Given the description of an element on the screen output the (x, y) to click on. 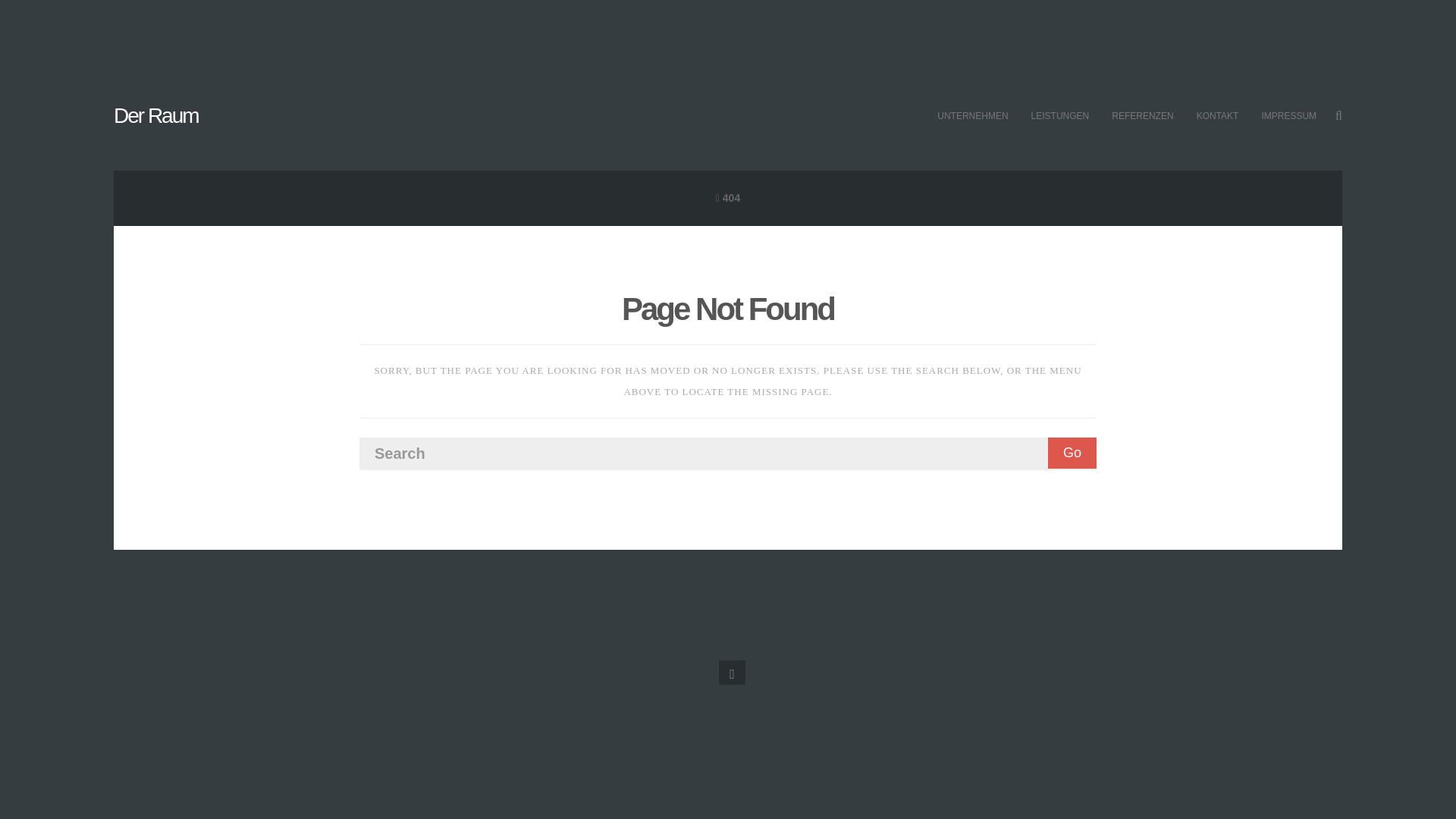
Search (727, 453)
IMPRESSUM (1288, 116)
LEISTUNGEN (1060, 116)
Der Raum (155, 115)
UNTERNEHMEN (972, 116)
Go (1072, 452)
Der Raum (155, 115)
Go (1072, 452)
KONTAKT (1217, 116)
Go (1072, 452)
Search (727, 453)
REFERENZEN (1141, 116)
Page Not Found (727, 308)
